Given the description of an element on the screen output the (x, y) to click on. 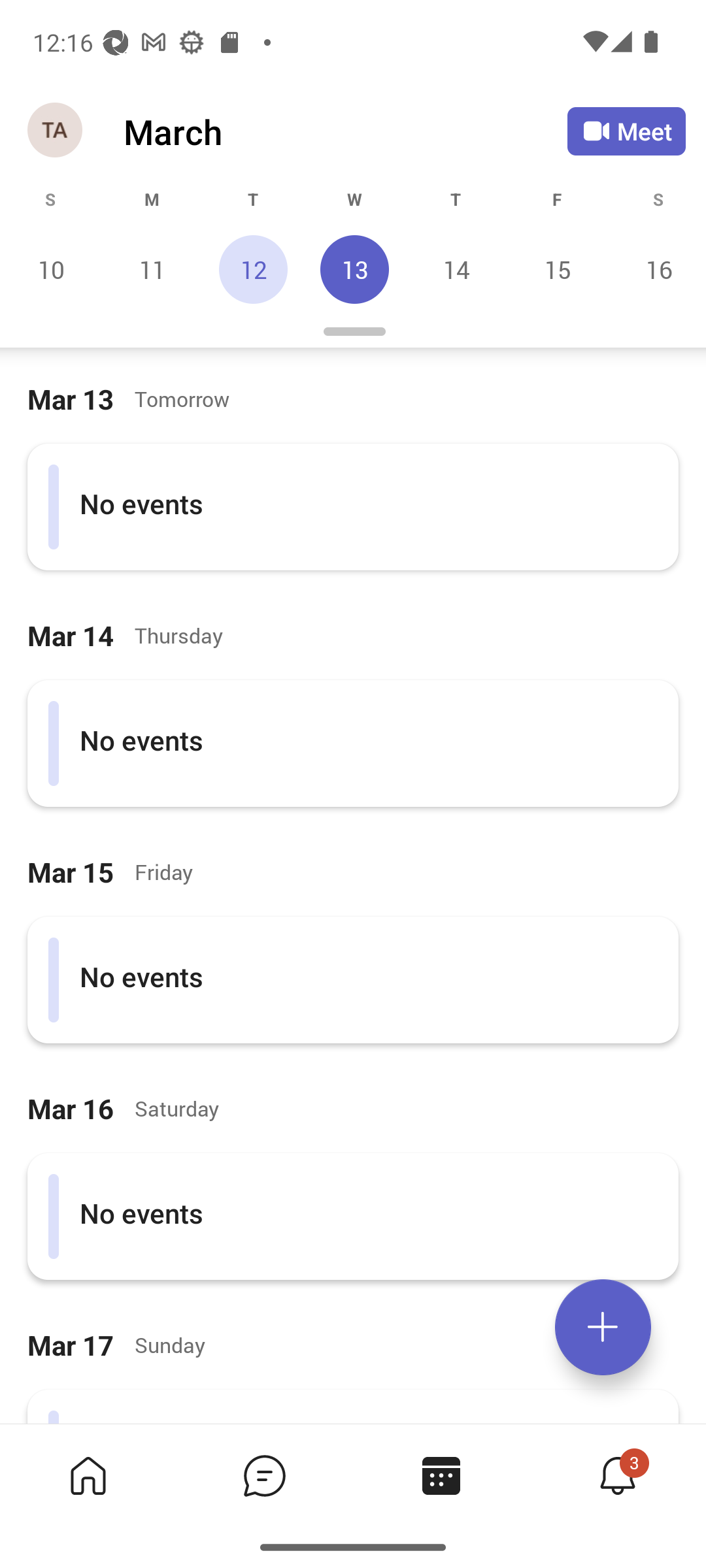
Navigation (56, 130)
Meet Meet now or join with an ID (626, 130)
March March Calendar Agenda View (345, 131)
Sunday, March 10 10 (50, 269)
Monday, March 11 11 (151, 269)
Tuesday, March 12, Today 12 (253, 269)
Wednesday, March 13, Selected 13 (354, 269)
Thursday, March 14 14 (455, 269)
Friday, March 15 15 (556, 269)
Saturday, March 16 16 (656, 269)
Expand meetings menu (602, 1327)
Home tab,1 of 4, not selected (88, 1475)
Chat tab,2 of 4, not selected (264, 1475)
Calendar tab, 3 of 4 (441, 1475)
Activity tab,4 of 4, not selected, 3 new 3 (617, 1475)
